Given the description of an element on the screen output the (x, y) to click on. 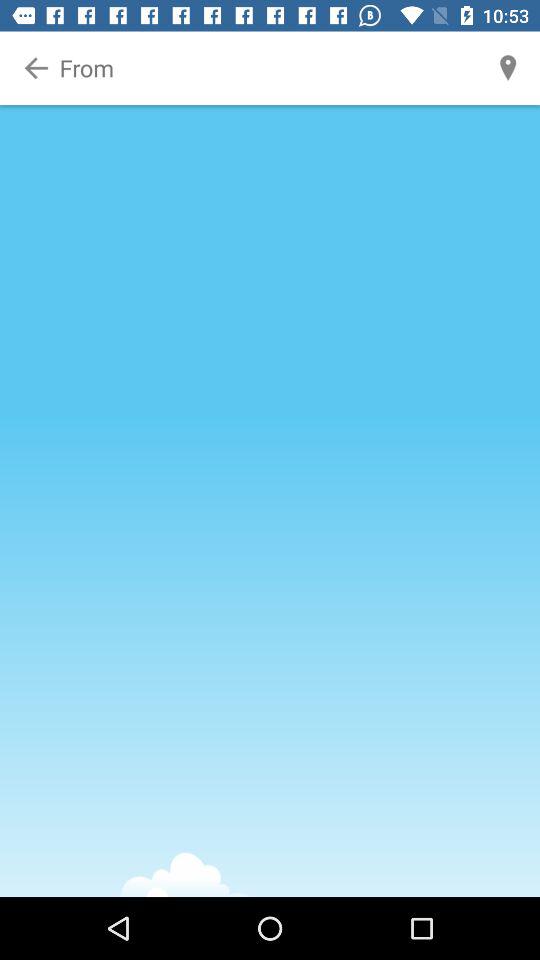
enter information (271, 68)
